Given the description of an element on the screen output the (x, y) to click on. 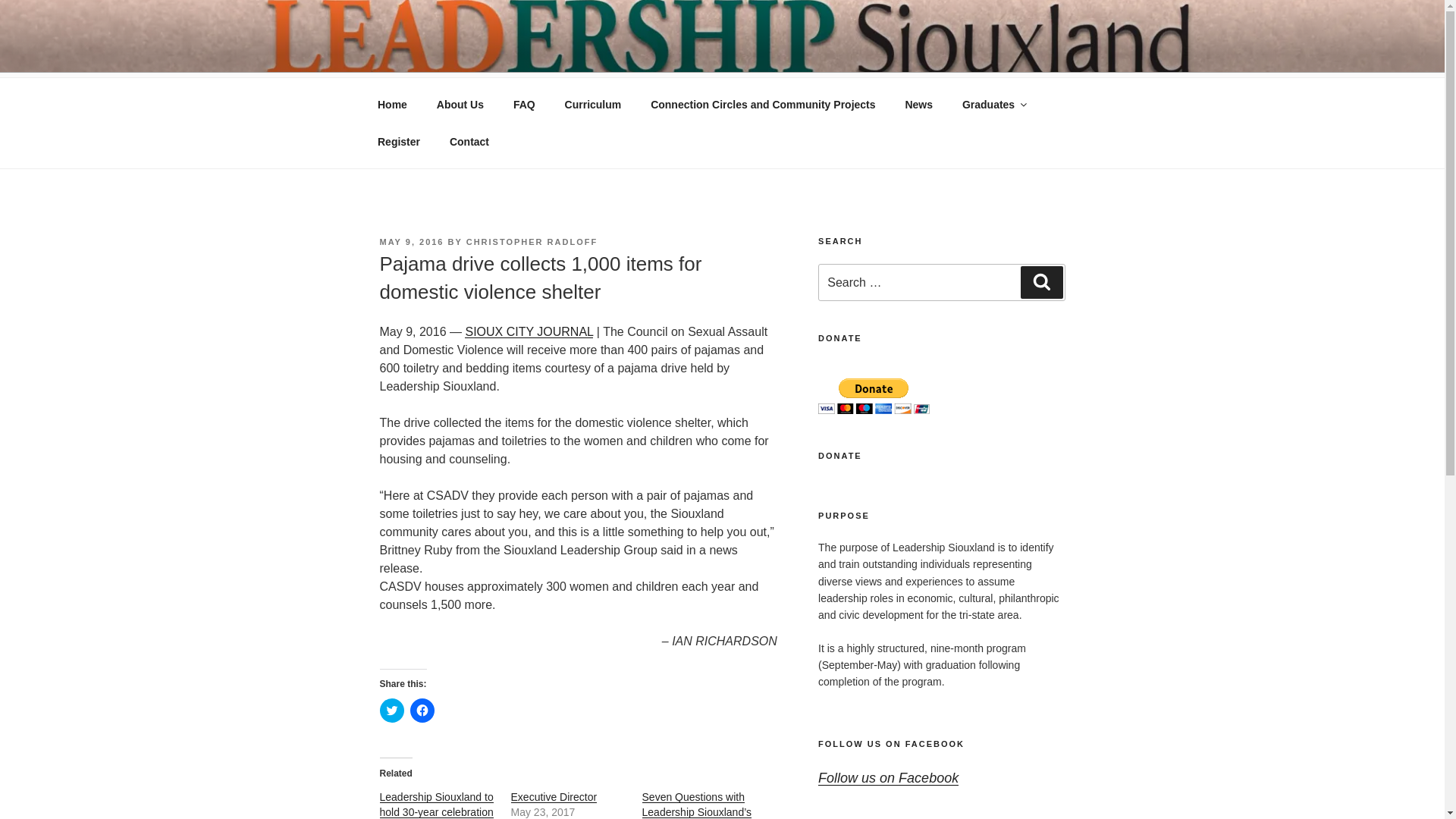
LEADERSHIP SIOUXLAND (572, 52)
Click to share on Twitter (390, 710)
Curriculum (592, 104)
Leadership Siouxland to hold 30-year celebration (435, 804)
FAQ (523, 104)
Graduates (993, 104)
Home (392, 104)
About Us (459, 104)
News (918, 104)
Click to share on Facebook (421, 710)
Connection Circles and Community Projects (762, 104)
Executive Director (553, 797)
